Given the description of an element on the screen output the (x, y) to click on. 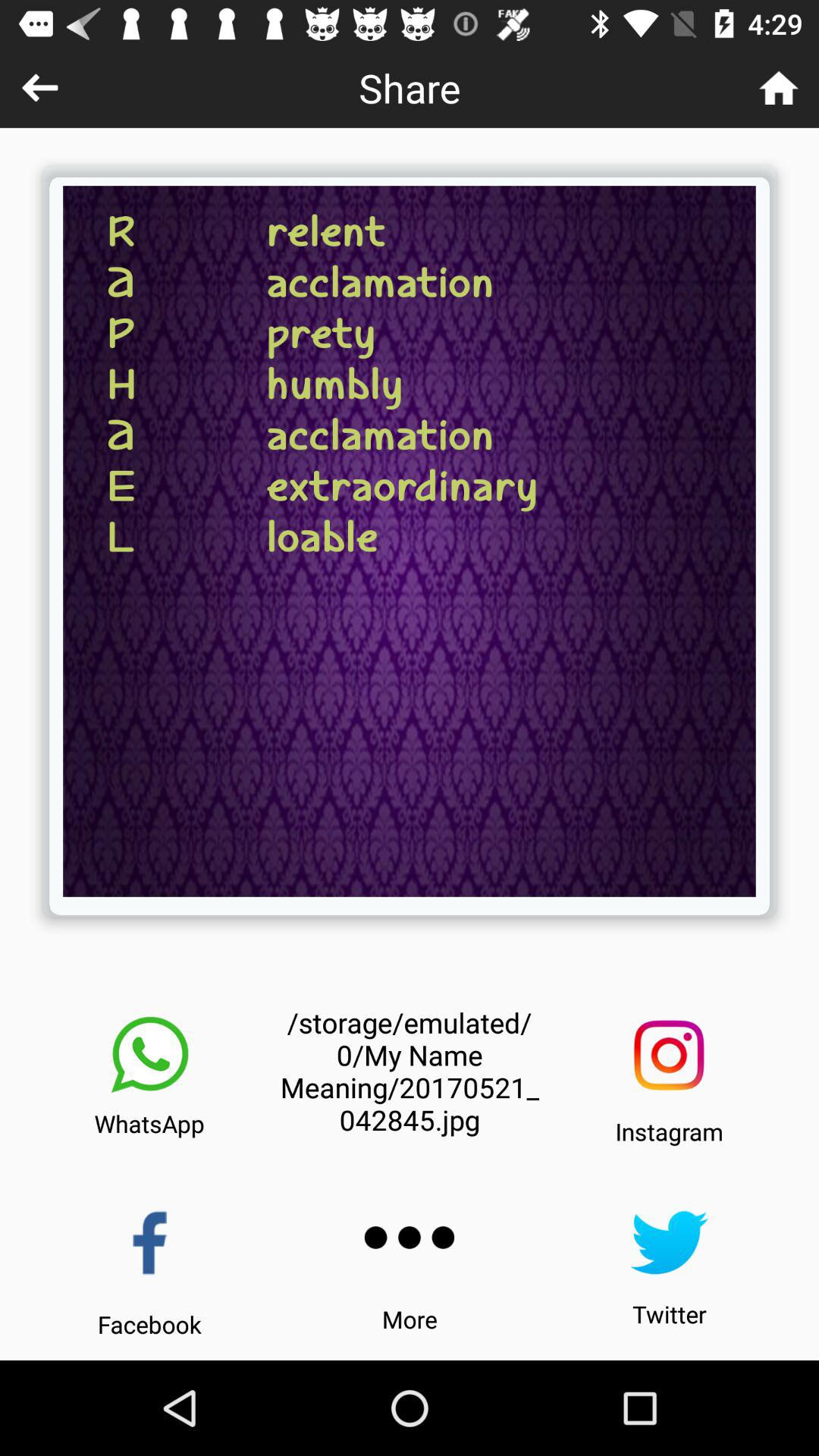
tap item to the right of the storage emulated 0 item (668, 1055)
